Given the description of an element on the screen output the (x, y) to click on. 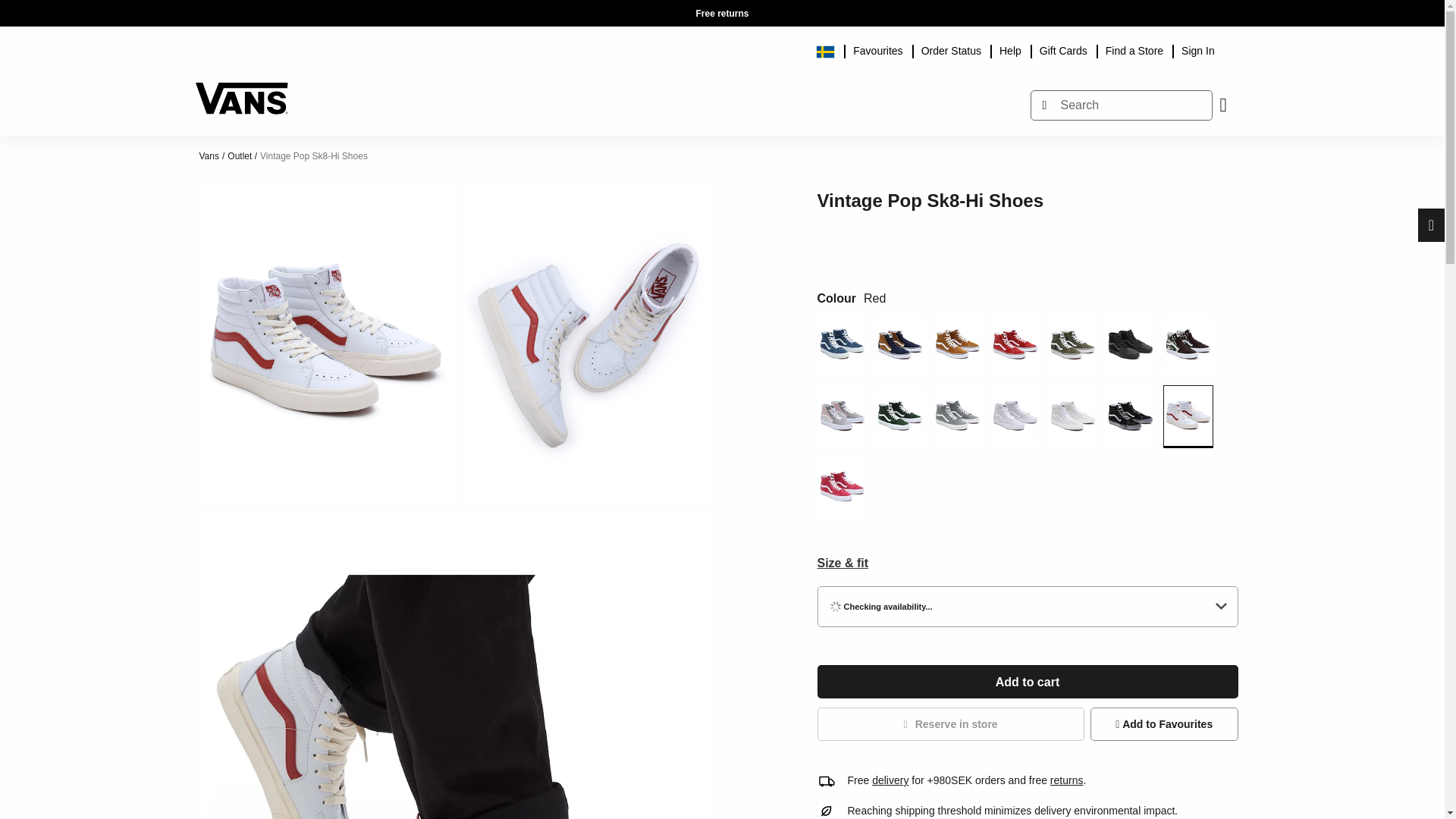
Help (1010, 48)
Vans (241, 91)
Sweden (829, 48)
Find a Store (1134, 48)
Skip to main content (202, 7)
Sign In (1198, 48)
Help (1010, 48)
Gift Cards (1063, 48)
Find a Store (1134, 48)
Order Status (951, 48)
